Given the description of an element on the screen output the (x, y) to click on. 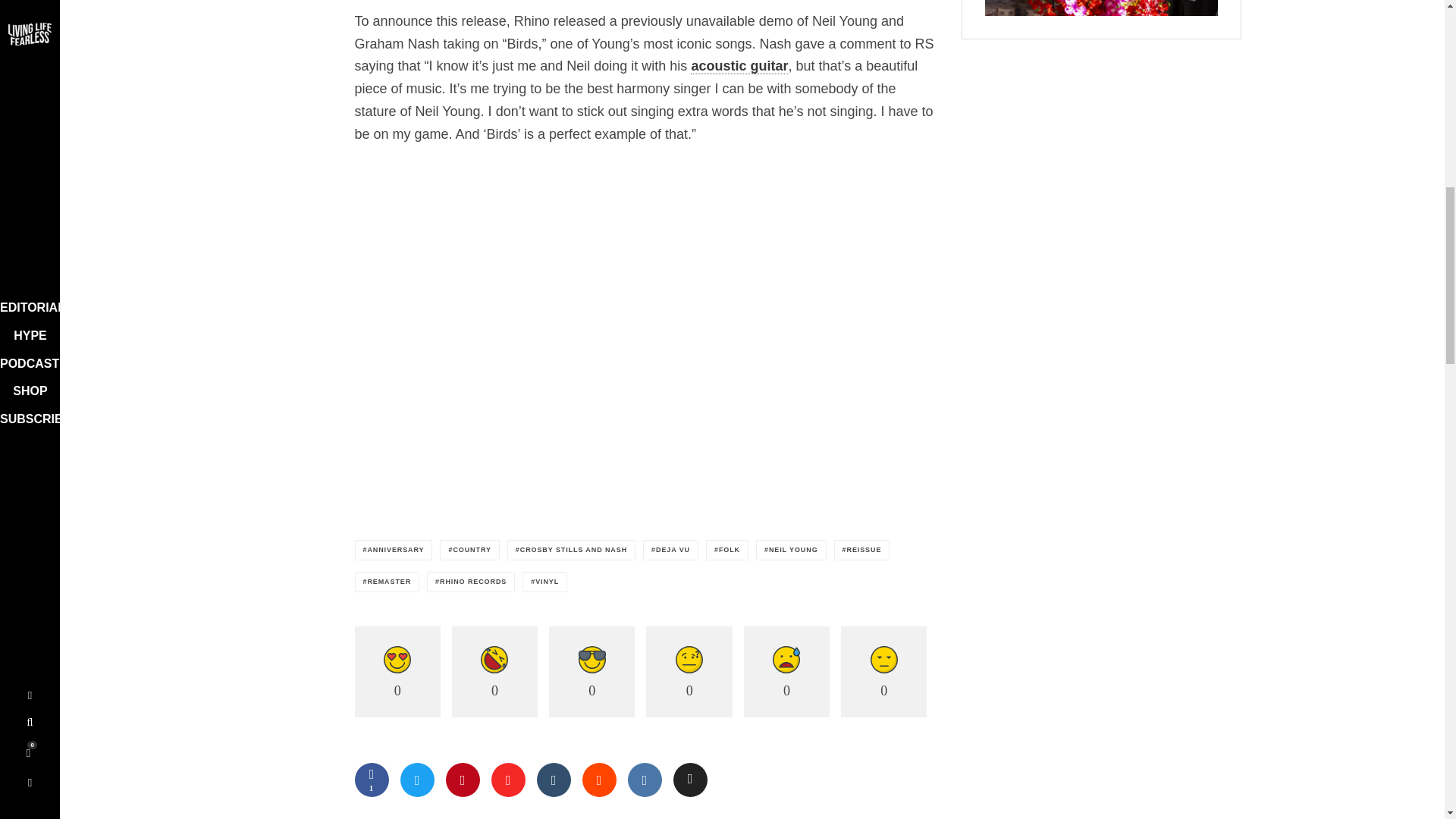
COUNTRY (469, 549)
RHINO RECORDS (470, 581)
CROSBY STILLS AND NASH (570, 549)
ANNIVERSARY (393, 549)
REMASTER (387, 581)
VINYL (544, 581)
REISSUE (861, 549)
DEJA VU (670, 549)
FOLK (727, 549)
NEIL YOUNG (791, 549)
0 (398, 671)
acoustic guitar (738, 66)
